Given the description of an element on the screen output the (x, y) to click on. 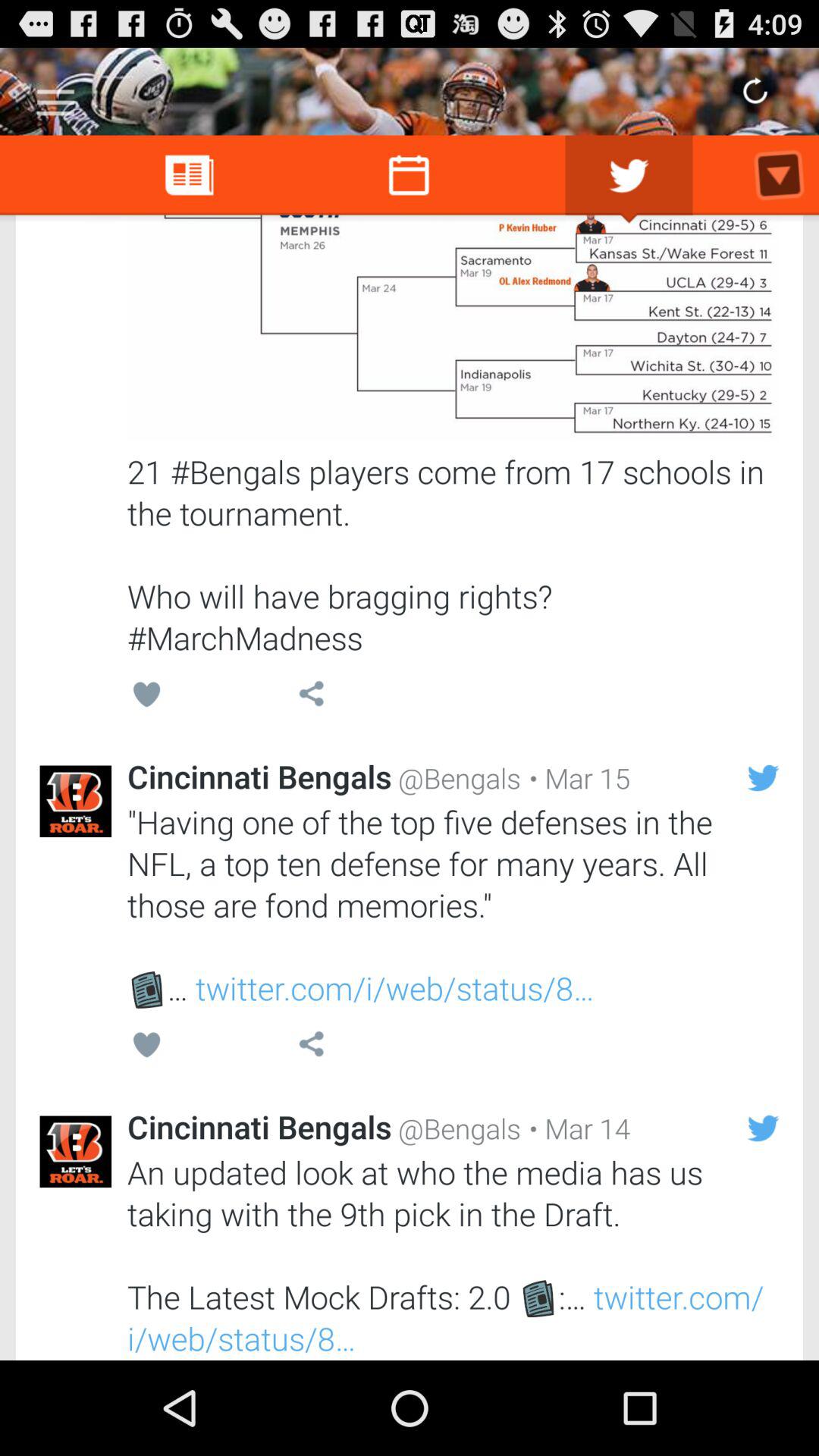
launch icon below the having one of (575, 1128)
